Given the description of an element on the screen output the (x, y) to click on. 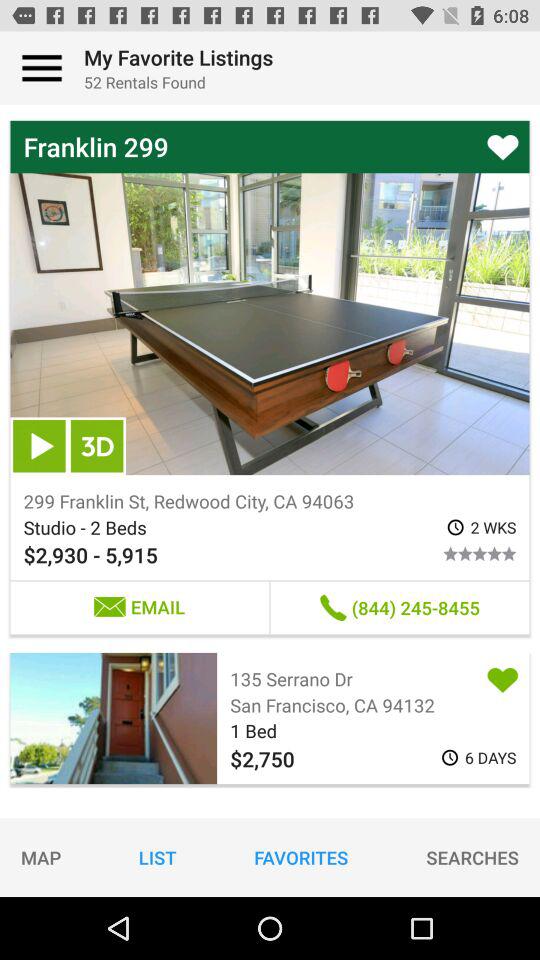
turn on item below the franklin 299 item (39, 446)
